Given the description of an element on the screen output the (x, y) to click on. 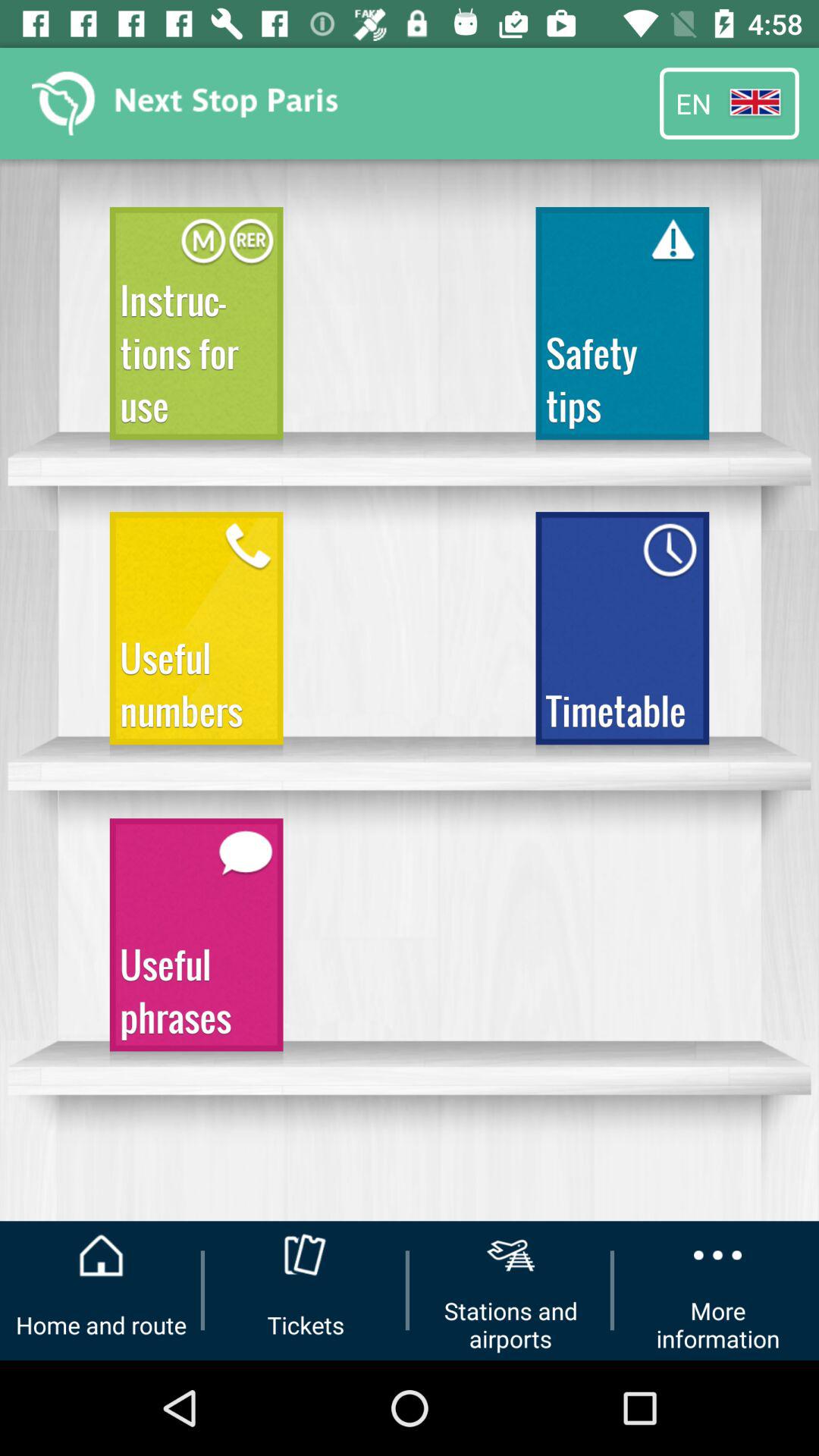
turn on the item above the useful phrases item (196, 634)
